Given the description of an element on the screen output the (x, y) to click on. 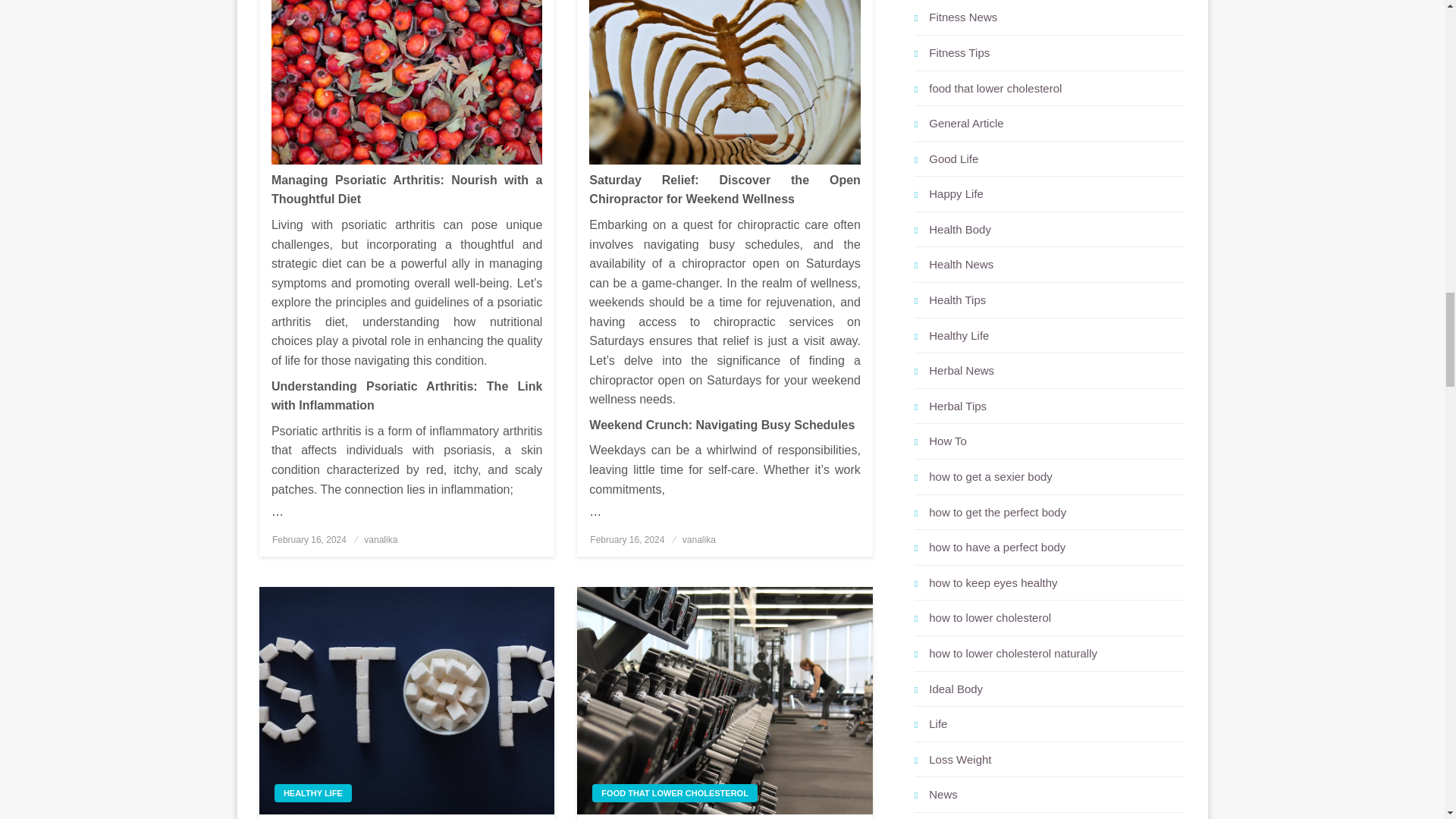
vanalika (699, 539)
vanalika (380, 539)
